Given the description of an element on the screen output the (x, y) to click on. 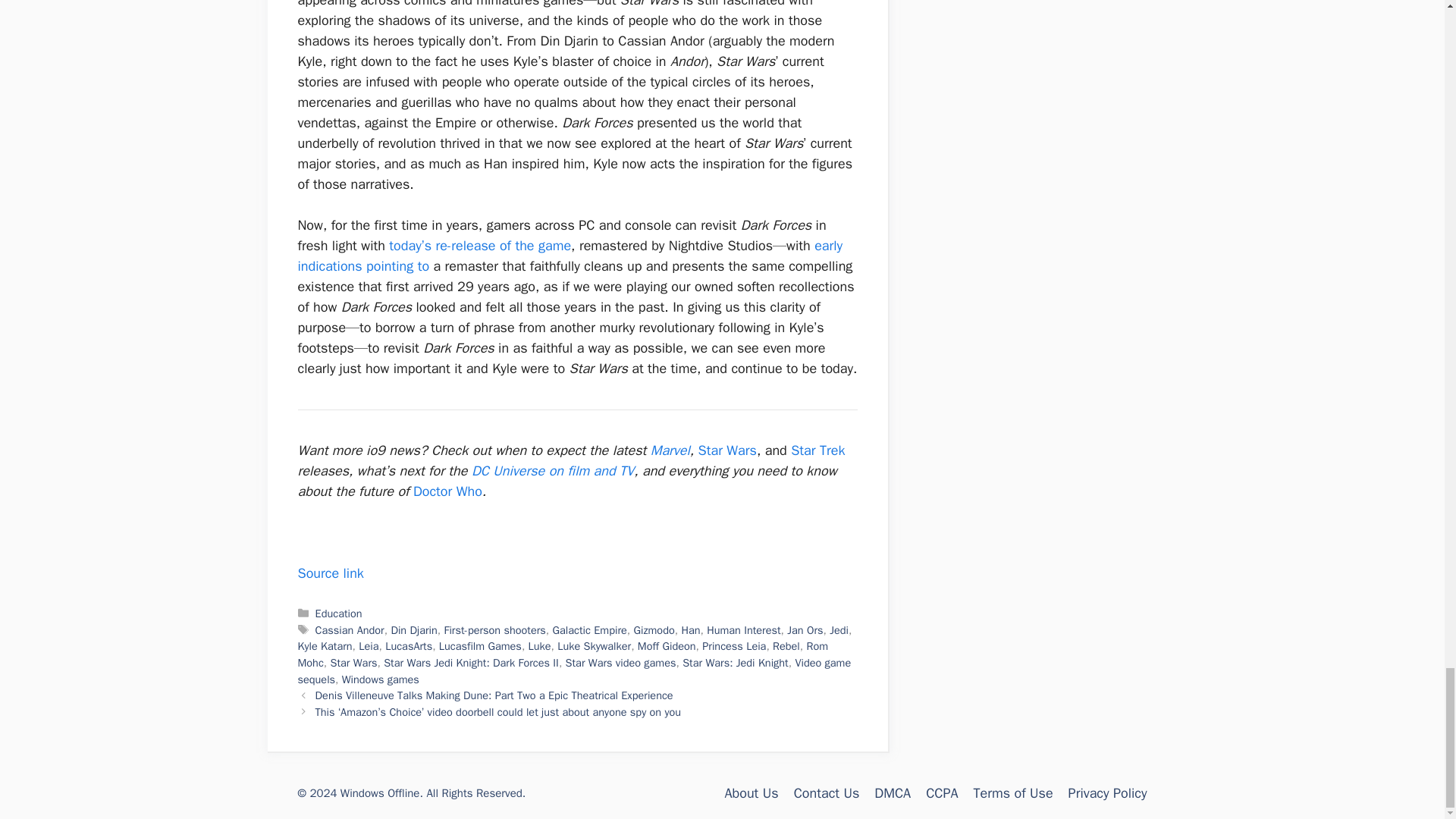
Marvel (670, 450)
Source link (329, 573)
Doctor Who (447, 491)
early indications pointing to (570, 255)
Star Wars (727, 450)
Education (338, 612)
Star Trek (817, 450)
DC Universe on film and TV (552, 470)
